Given the description of an element on the screen output the (x, y) to click on. 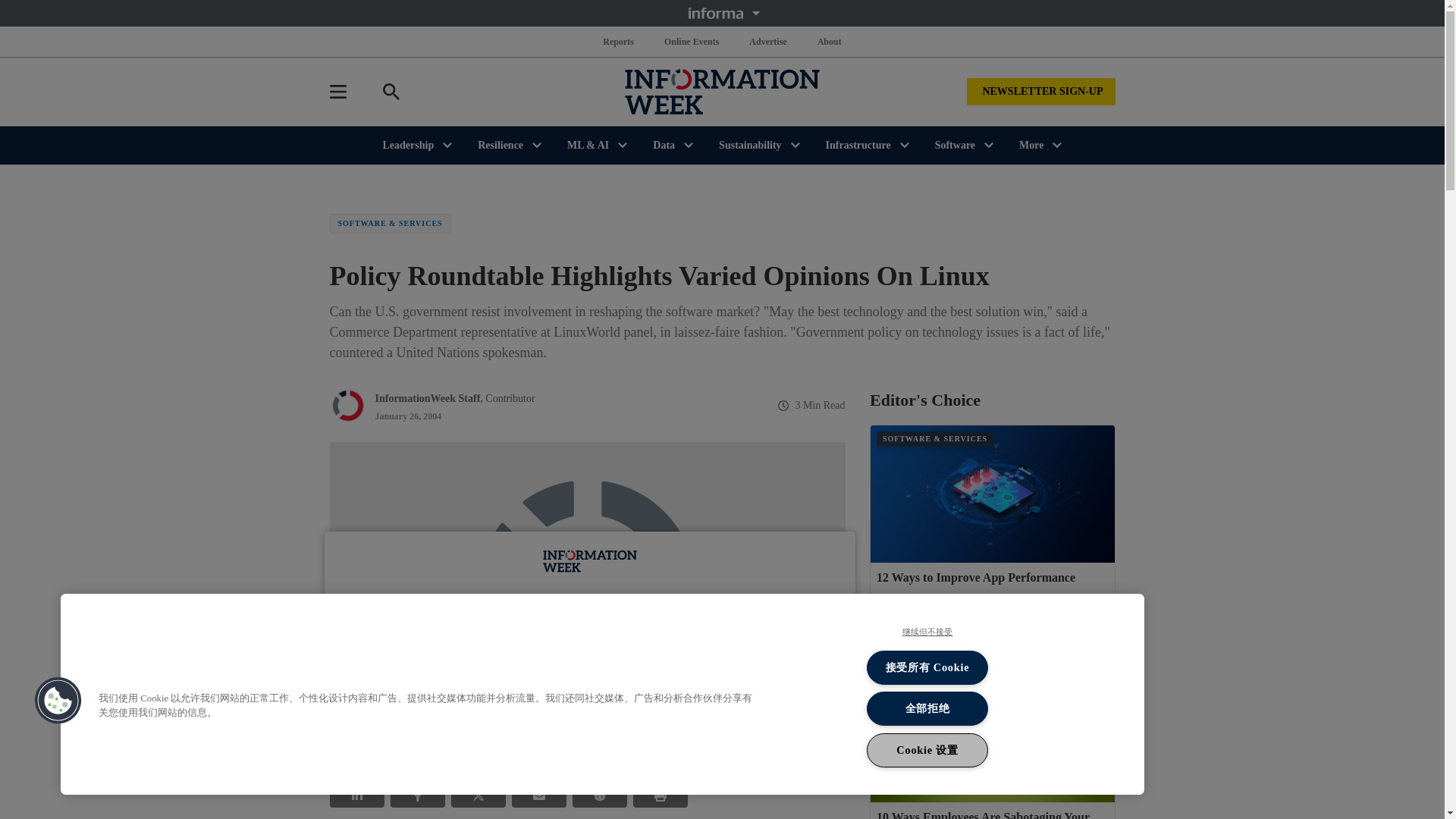
About (828, 41)
Cookies Button (57, 700)
Advertise (767, 41)
Reports (618, 41)
Online Events (691, 41)
NEWSLETTER SIGN-UP (1040, 90)
InformationWeek (722, 91)
